Given the description of an element on the screen output the (x, y) to click on. 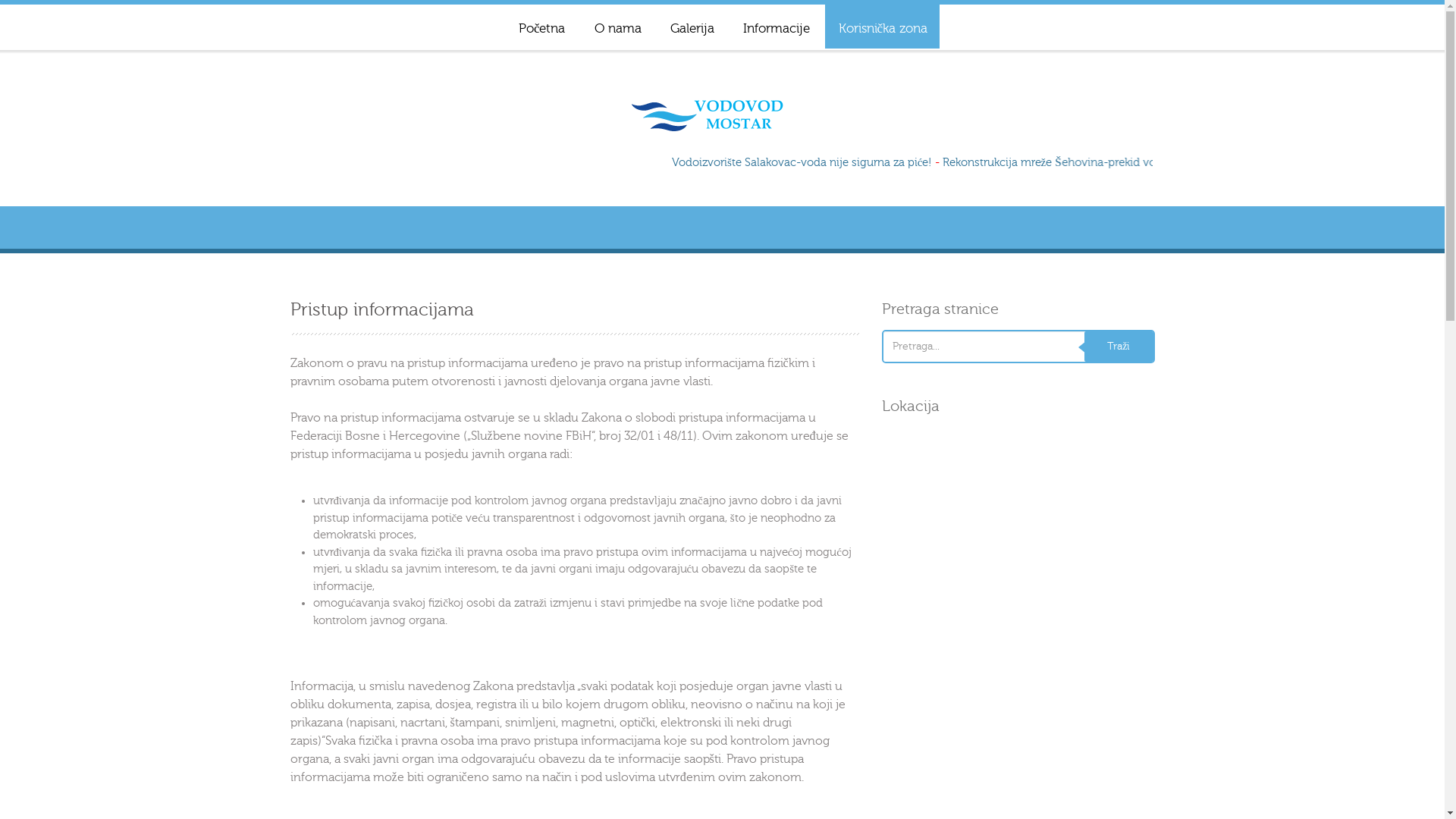
O nama Element type: text (616, 26)
Informacije Element type: text (775, 26)
Galerija Element type: text (691, 26)
